Given the description of an element on the screen output the (x, y) to click on. 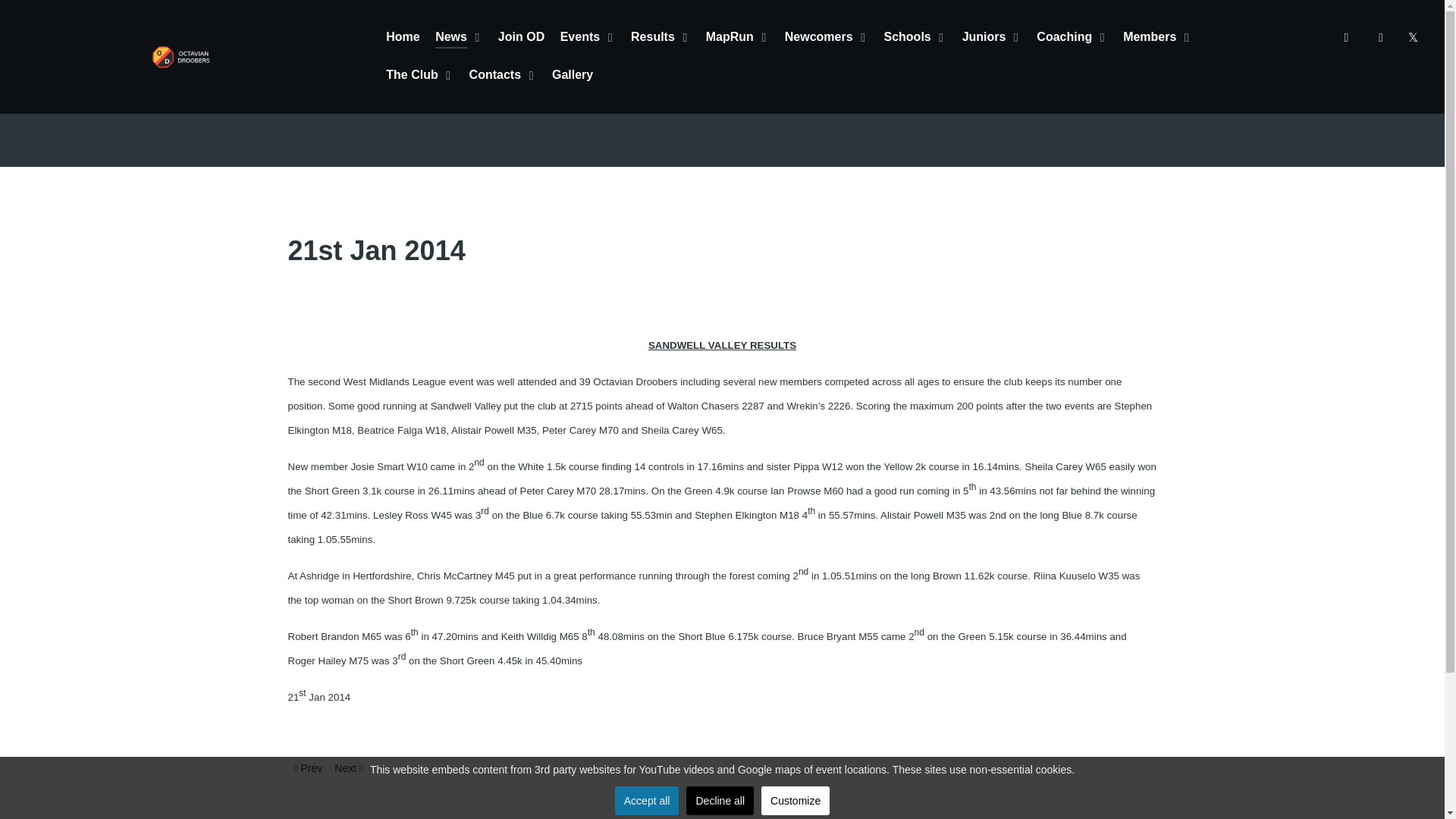
Octavian Droobers (180, 56)
Home (402, 38)
Twitter (1347, 36)
Facebook (1382, 36)
Join OD (520, 38)
